Given the description of an element on the screen output the (x, y) to click on. 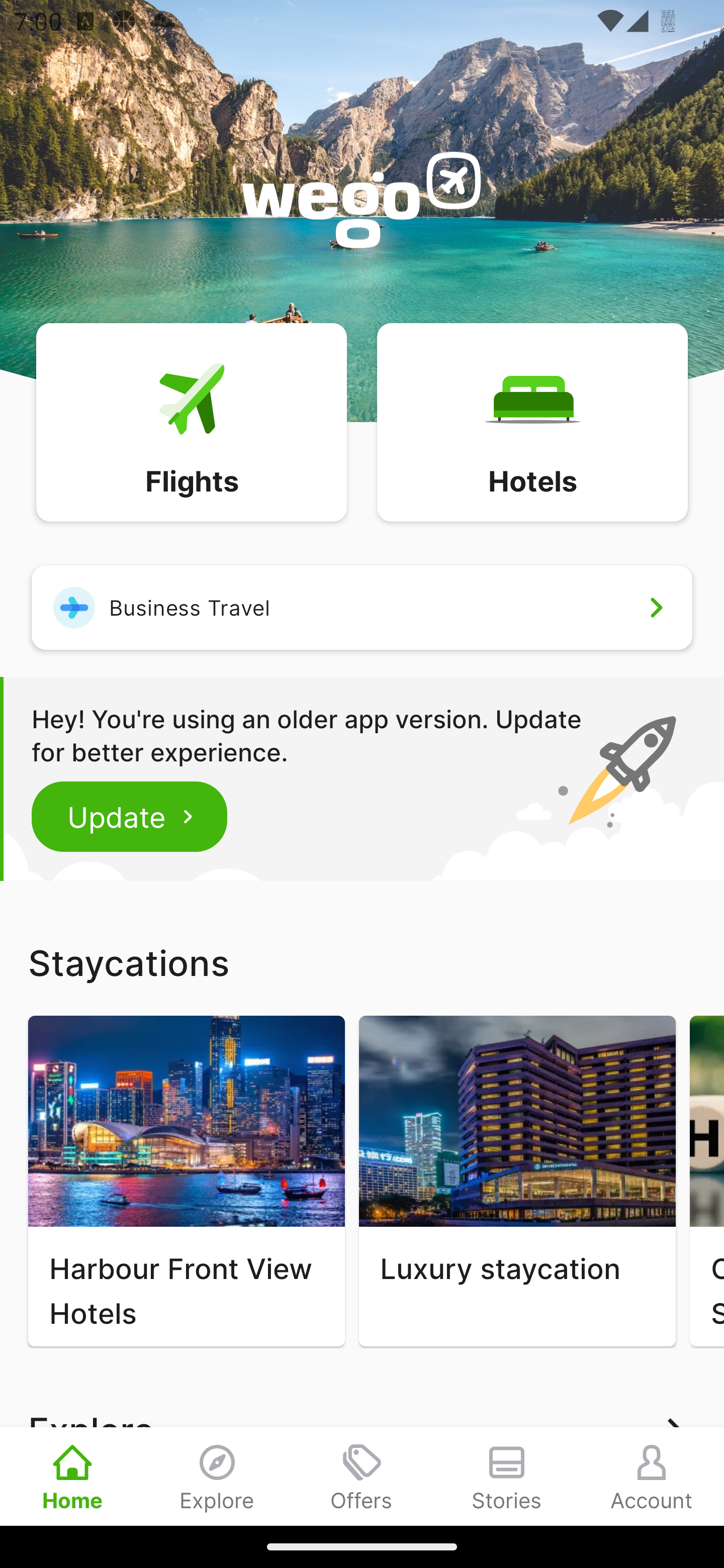
Flights (191, 420)
Hotels (532, 420)
Business Travel (361, 607)
Update (129, 815)
Staycations (362, 962)
Harbour Front View Hotels (186, 1181)
Luxury staycation (517, 1181)
Explore (216, 1475)
Offers (361, 1475)
Stories (506, 1475)
Account (651, 1475)
